Given the description of an element on the screen output the (x, y) to click on. 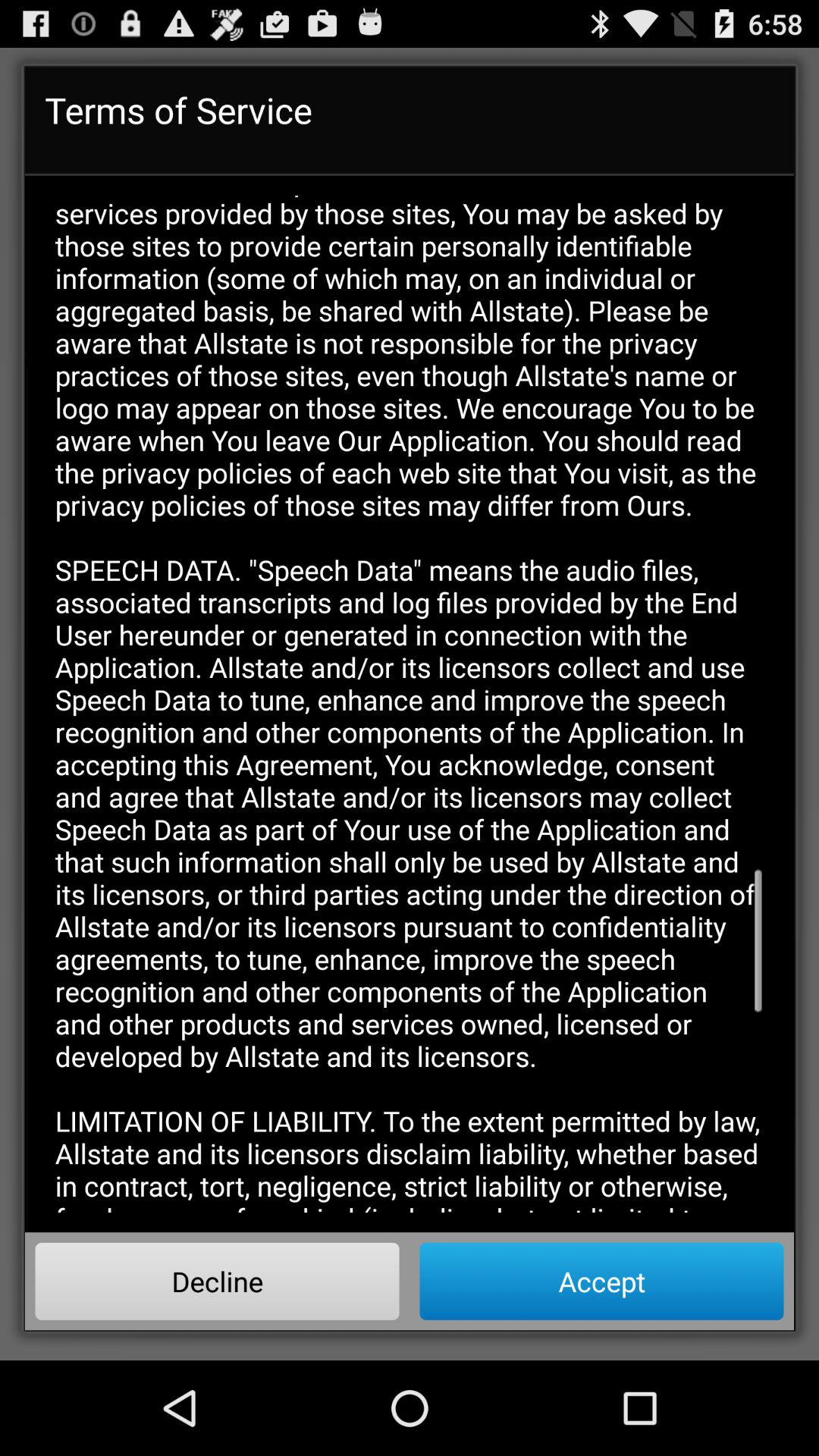
launch button to the right of the decline item (601, 1281)
